Given the description of an element on the screen output the (x, y) to click on. 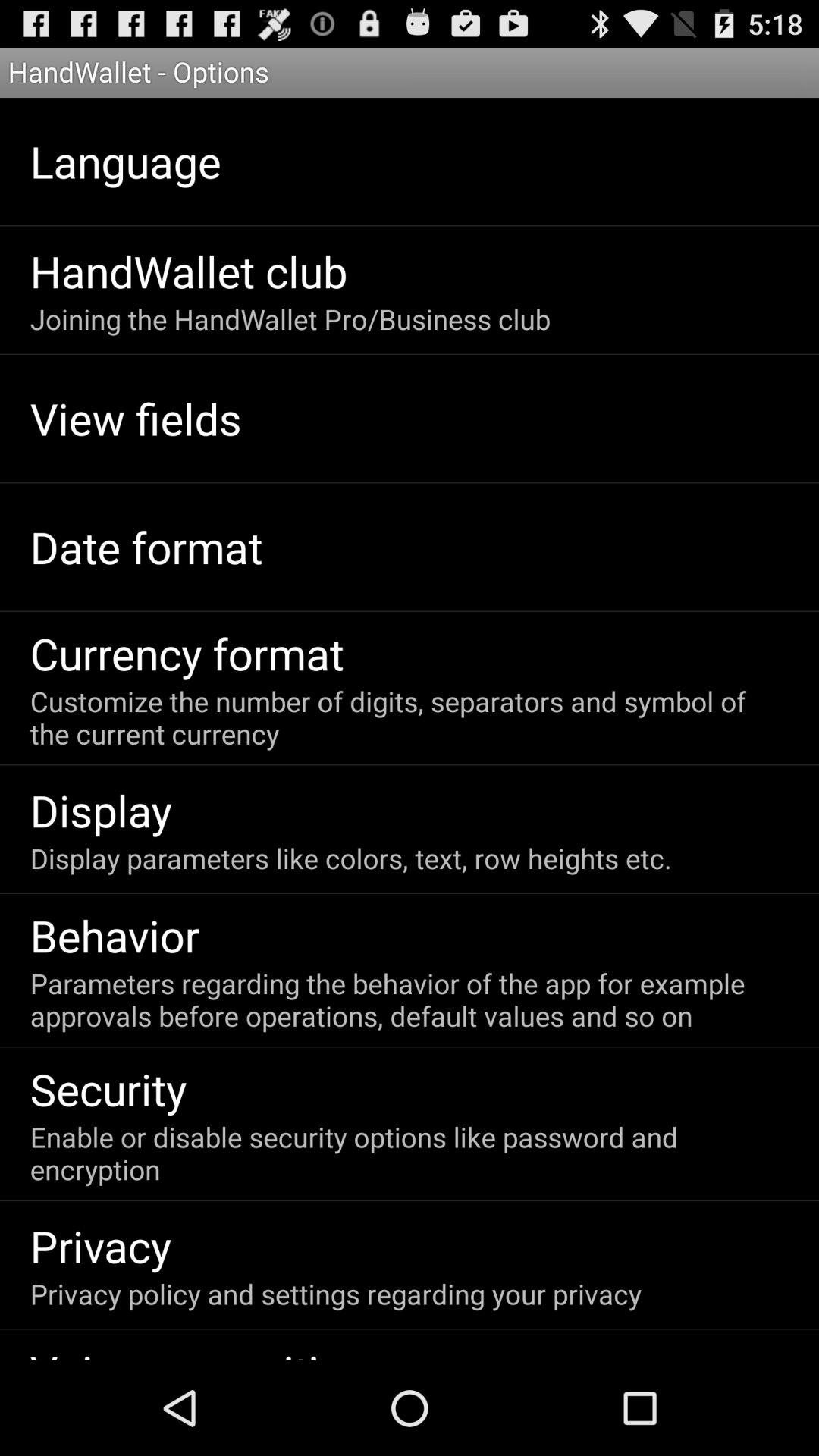
scroll to the view fields item (135, 418)
